Given the description of an element on the screen output the (x, y) to click on. 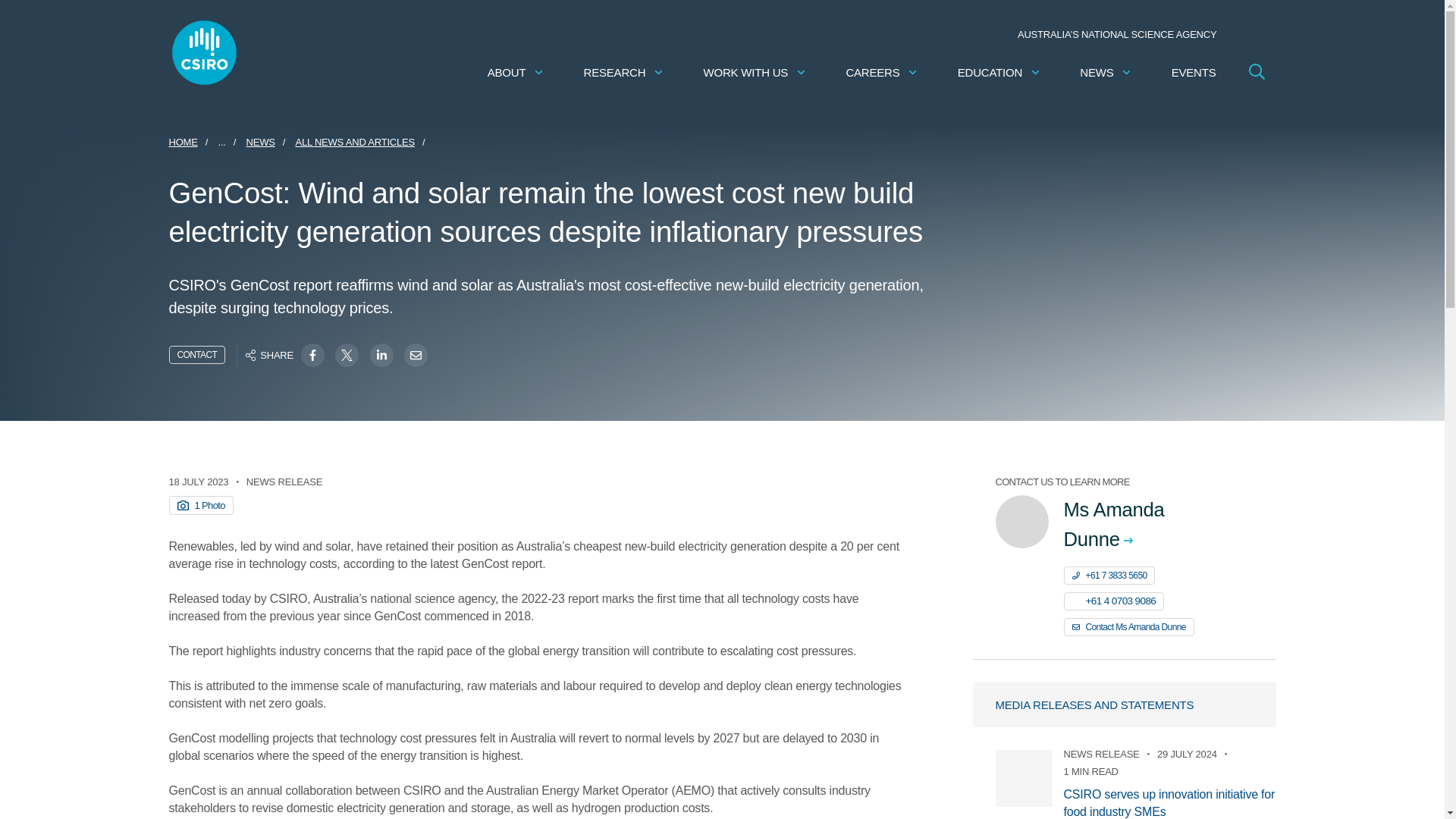
ABOUT (515, 72)
NEWS (1106, 72)
CONTACT (196, 354)
RESEARCH (624, 72)
HOME (182, 141)
Ms Amanda Dunne (1157, 525)
WORK WITH US (755, 72)
CAREERS (881, 72)
NEWS (260, 141)
EVENTS (1193, 72)
CSIRO serves up innovation initiative for food industry SMEs (1168, 802)
ALL NEWS AND ARTICLES (354, 141)
MEDIA RELEASES AND STATEMENTS (1123, 704)
EDUCATION (999, 72)
1 Photo (200, 505)
